Given the description of an element on the screen output the (x, y) to click on. 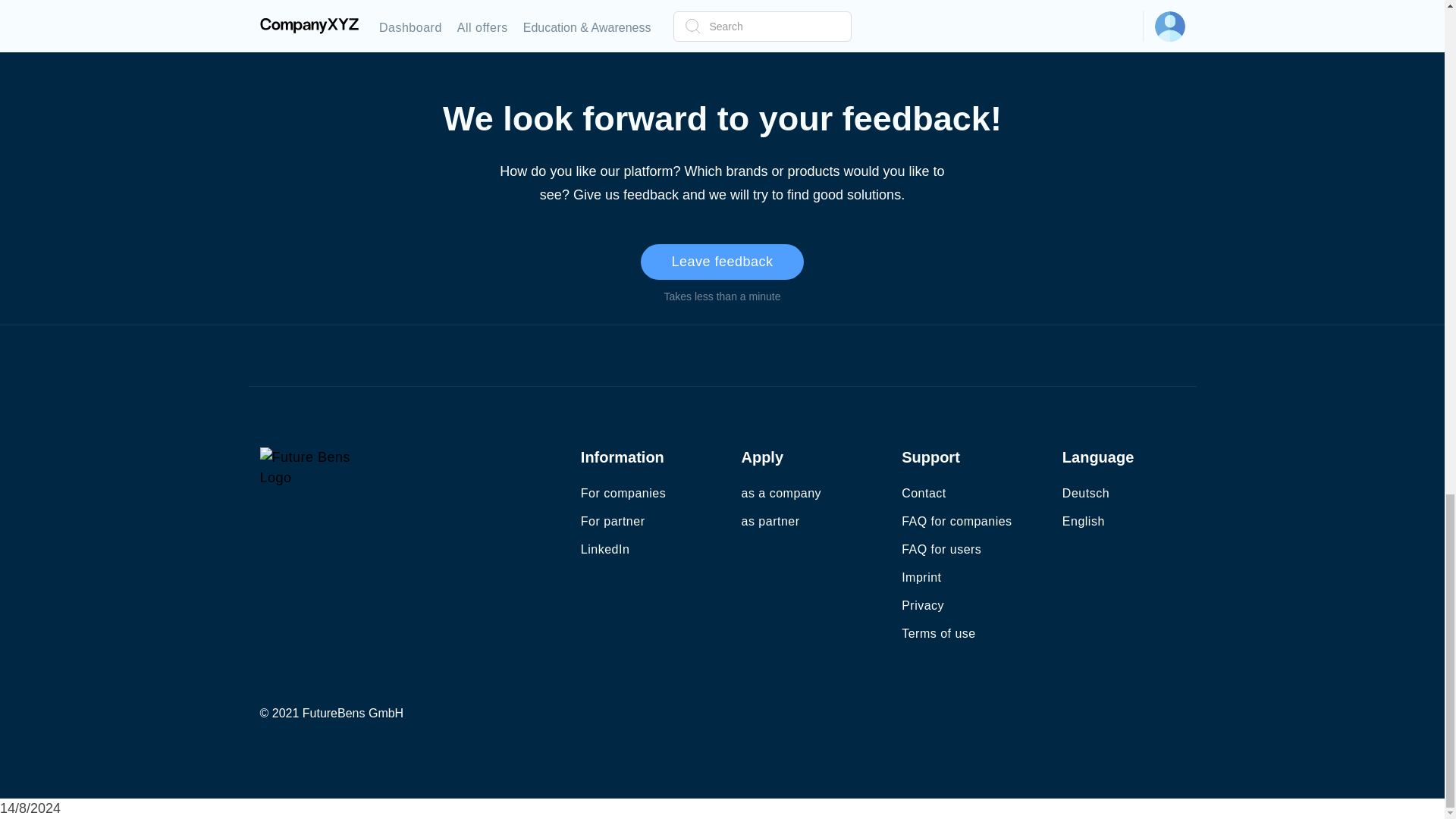
For companies (622, 493)
LinkedIn (605, 548)
as partner (770, 521)
as a company (781, 493)
Leave feedback (721, 262)
For partner (612, 521)
